Given the description of an element on the screen output the (x, y) to click on. 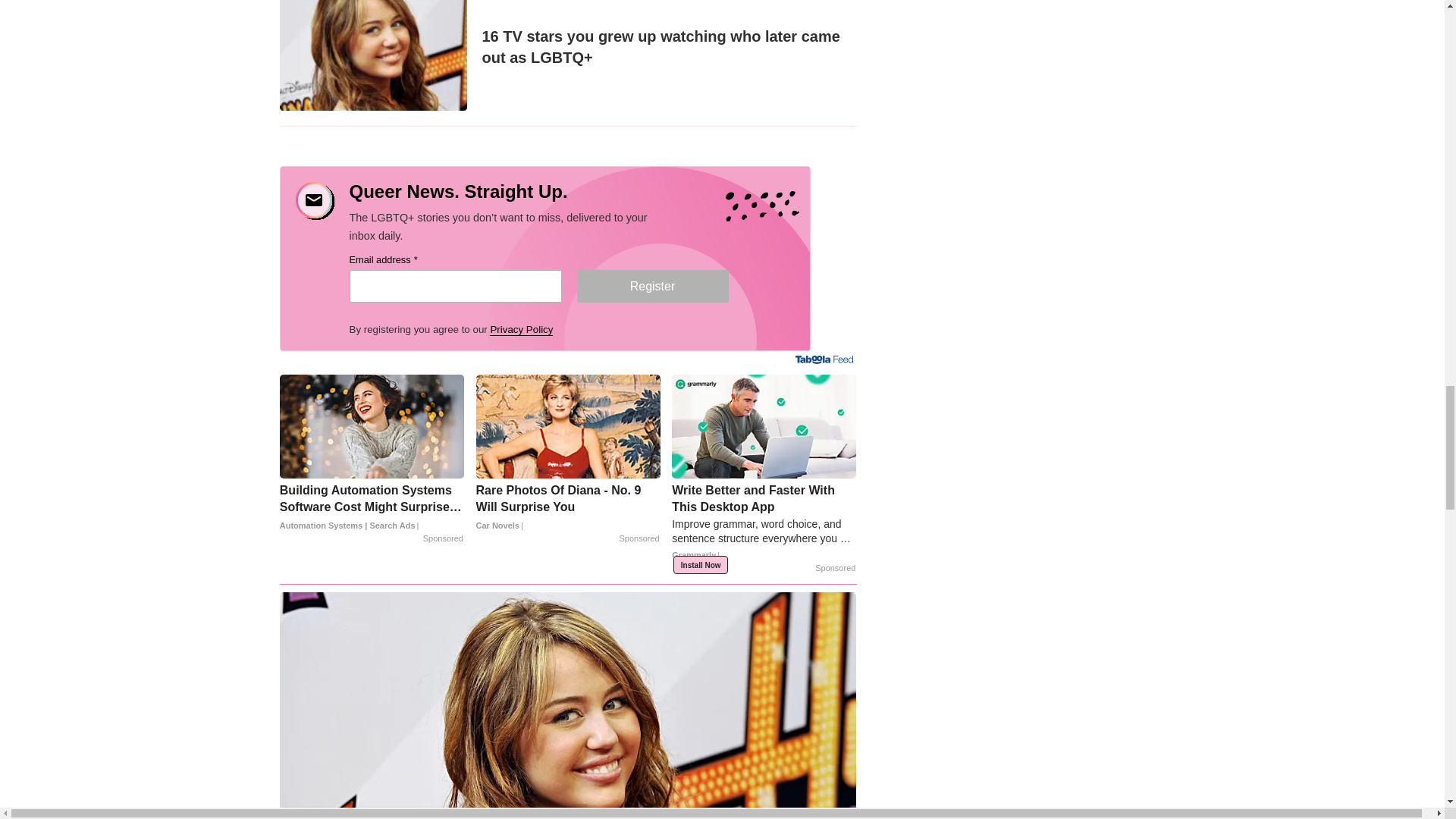
Write Better and Faster With This Desktop App (763, 527)
Building Automation Systems Software Cost Might Surprise you (371, 507)
Rare Photos Of Diana - No. 9 Will Surprise You (568, 507)
